Given the description of an element on the screen output the (x, y) to click on. 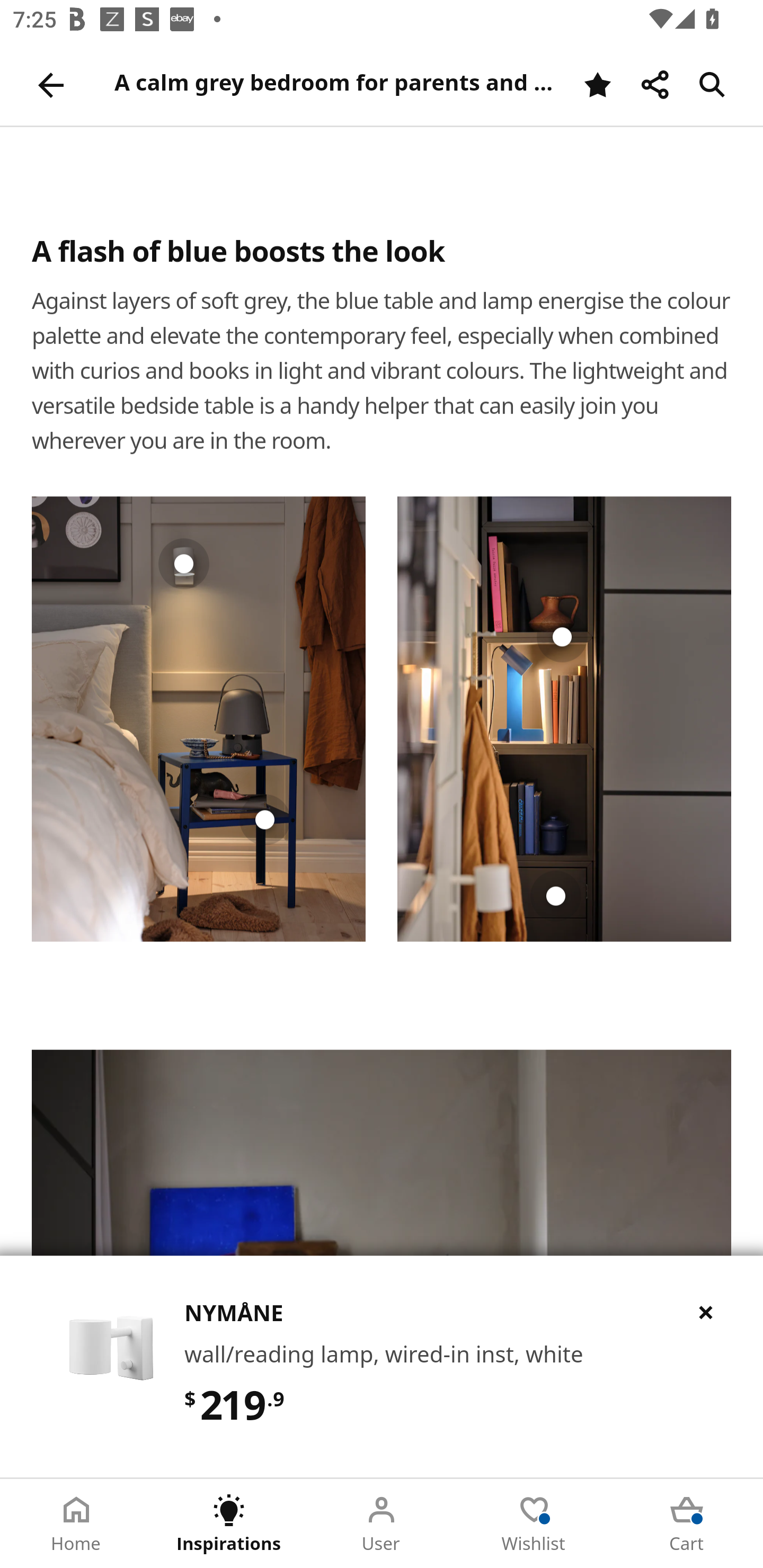
Home
Tab 1 of 5 (76, 1522)
Inspirations
Tab 2 of 5 (228, 1522)
User
Tab 3 of 5 (381, 1522)
Wishlist
Tab 4 of 5 (533, 1522)
Cart
Tab 5 of 5 (686, 1522)
